Given the description of an element on the screen output the (x, y) to click on. 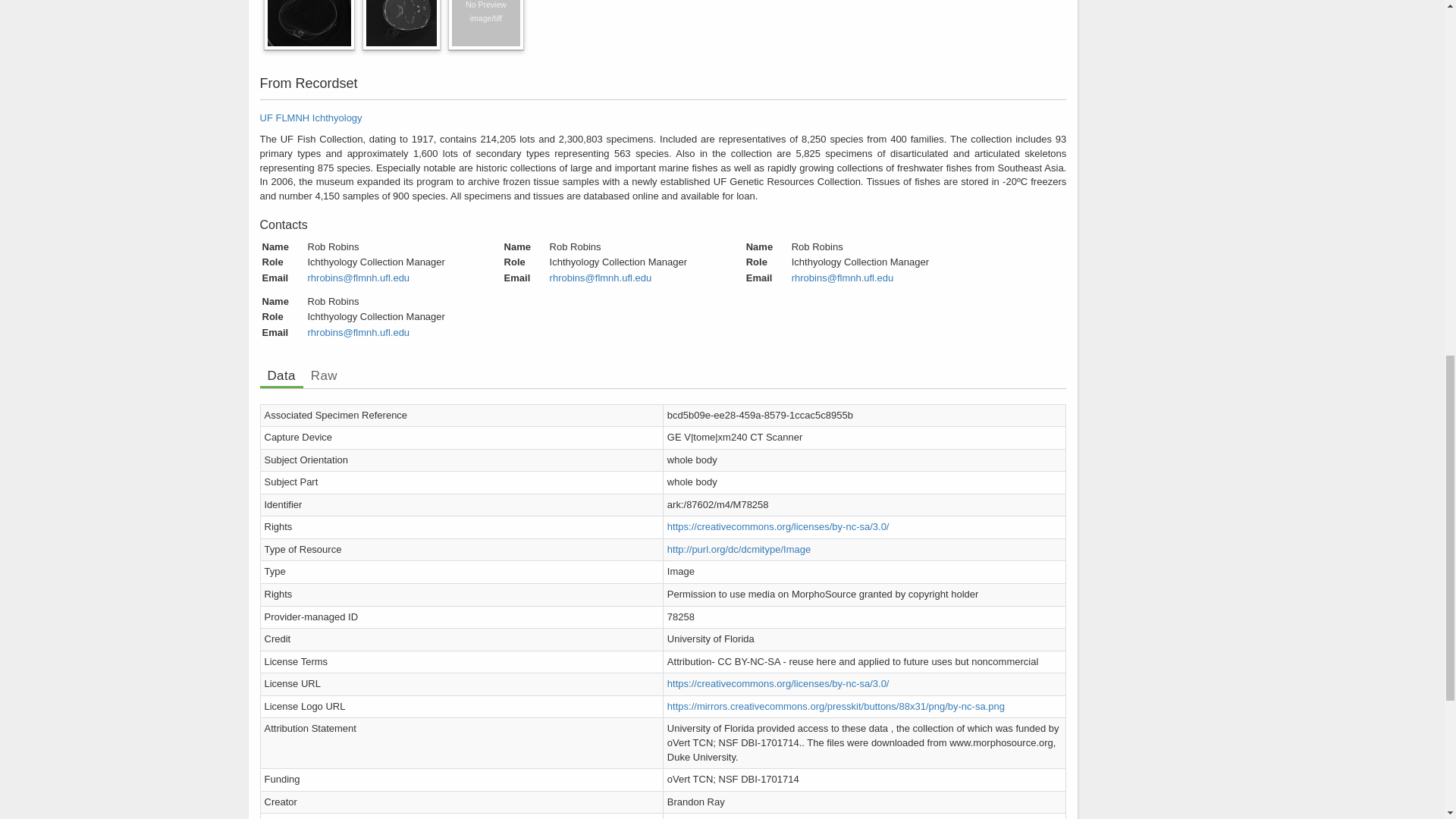
click to open media record (485, 11)
Other Media (662, 30)
click to open media record (308, 11)
click to open media record (401, 11)
UF FLMNH Ichthyology (310, 117)
